Given the description of an element on the screen output the (x, y) to click on. 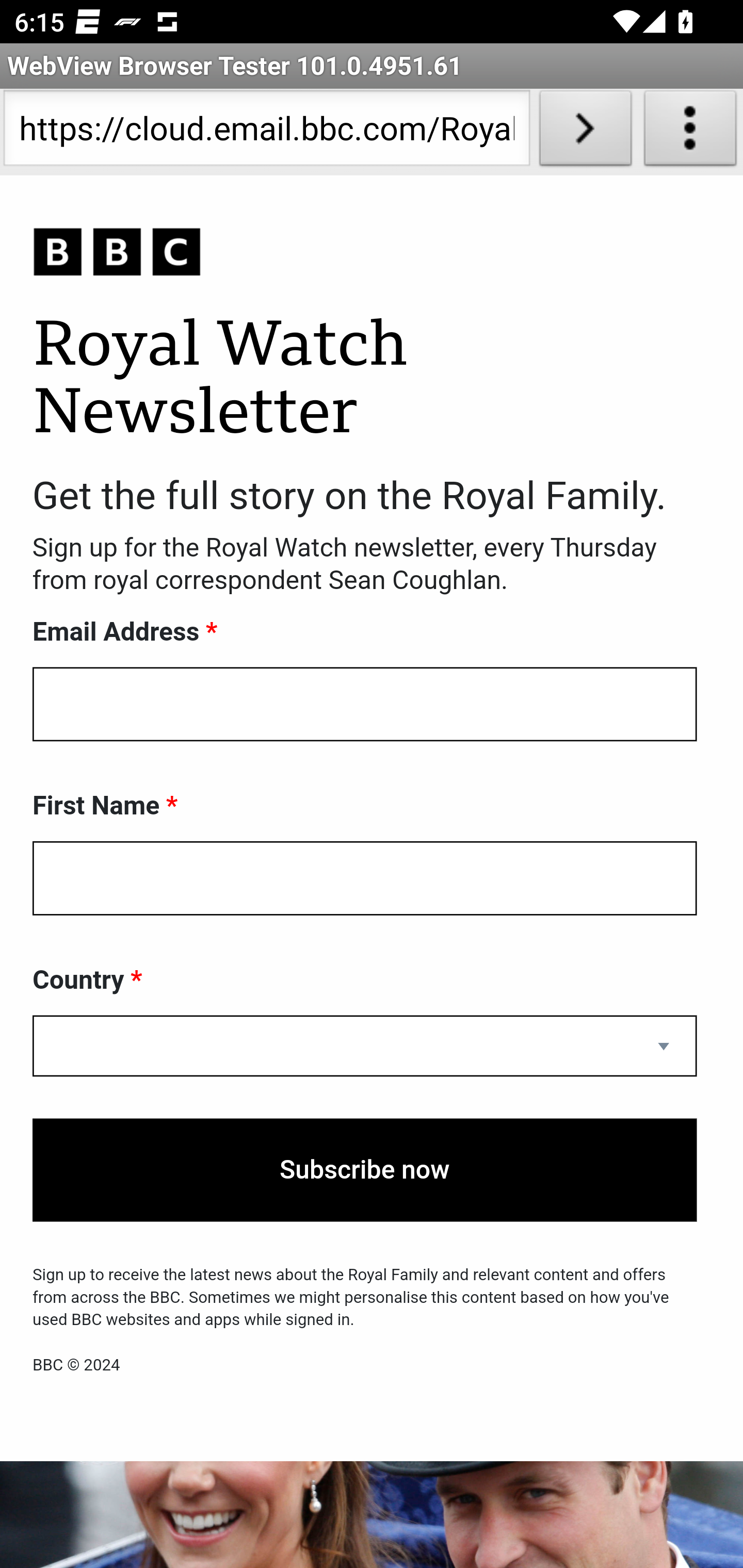
Load URL (585, 132)
About WebView (690, 132)
BBC (364, 253)
Subscribe now (364, 1170)
